Given the description of an element on the screen output the (x, y) to click on. 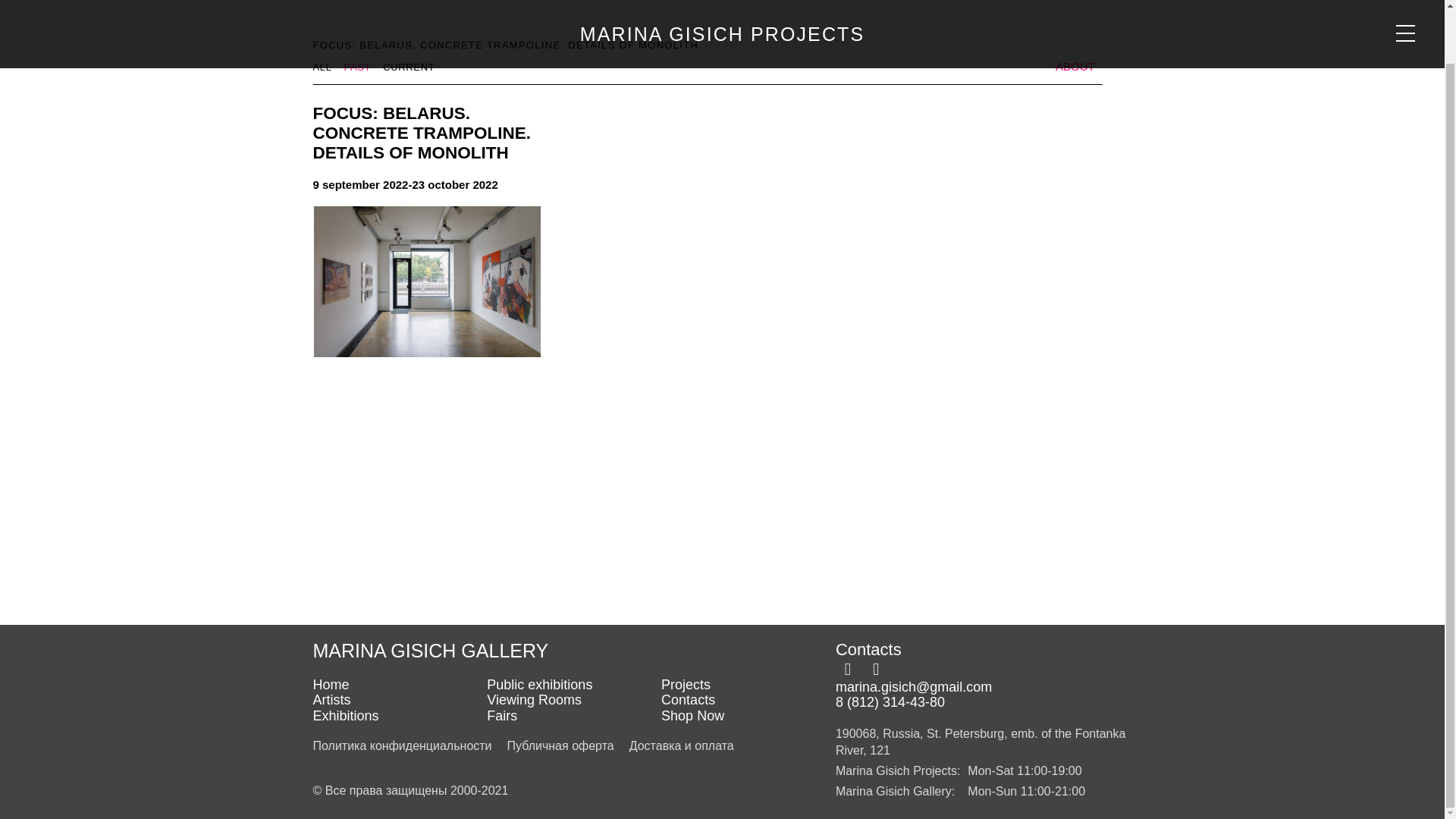
Fairs (573, 715)
Home (399, 684)
Shop Now (748, 715)
ALL (322, 66)
Facebook (847, 668)
Telegram (875, 668)
Viewing Rooms (573, 700)
Artists (399, 700)
PAST (357, 66)
Contacts (748, 700)
